Given the description of an element on the screen output the (x, y) to click on. 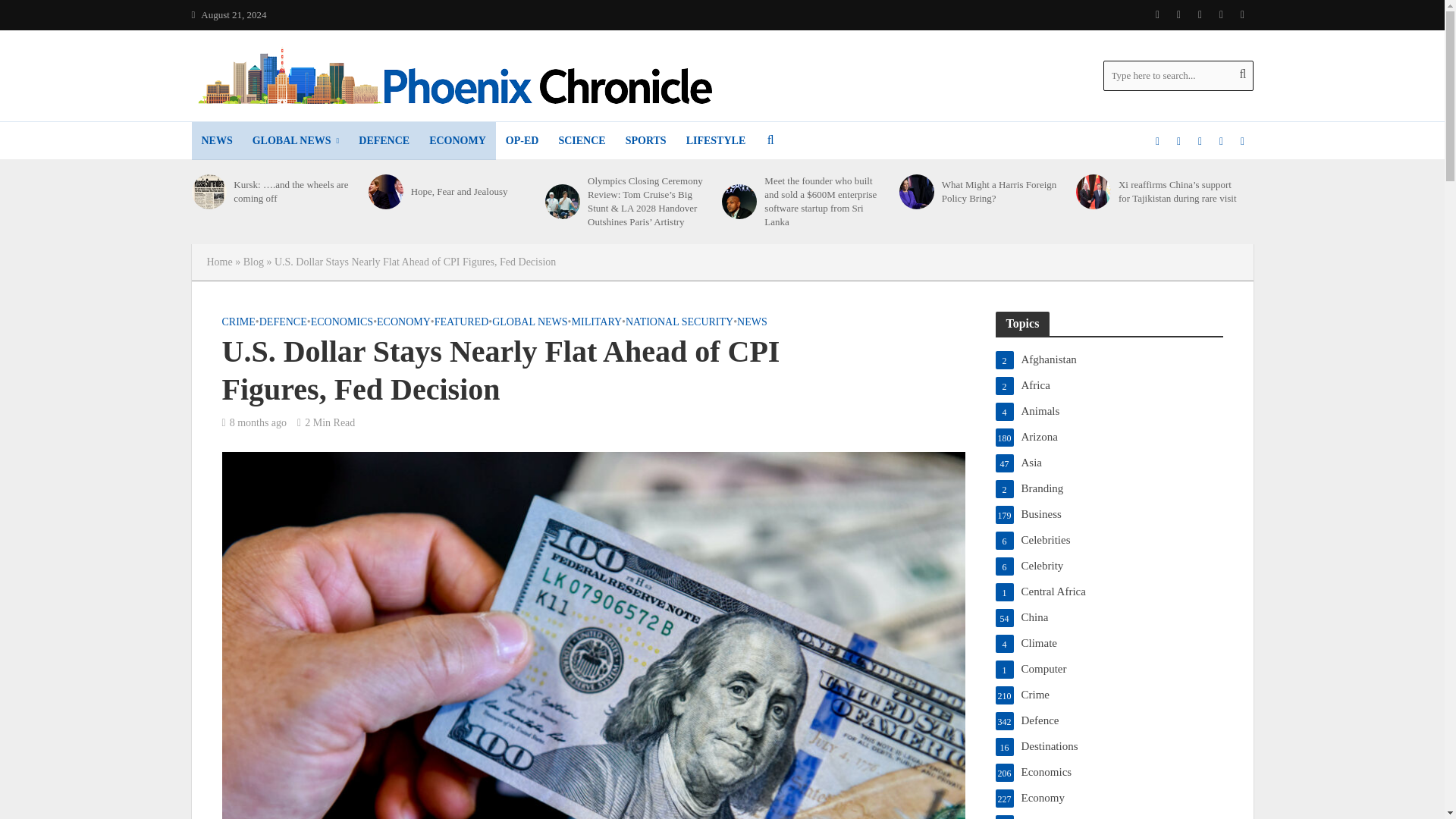
NEWS (215, 140)
GLOBAL NEWS (296, 140)
Hope, Fear and Jealousy (385, 191)
What Might a Harris Foreign Policy Bring? (916, 191)
